Given the description of an element on the screen output the (x, y) to click on. 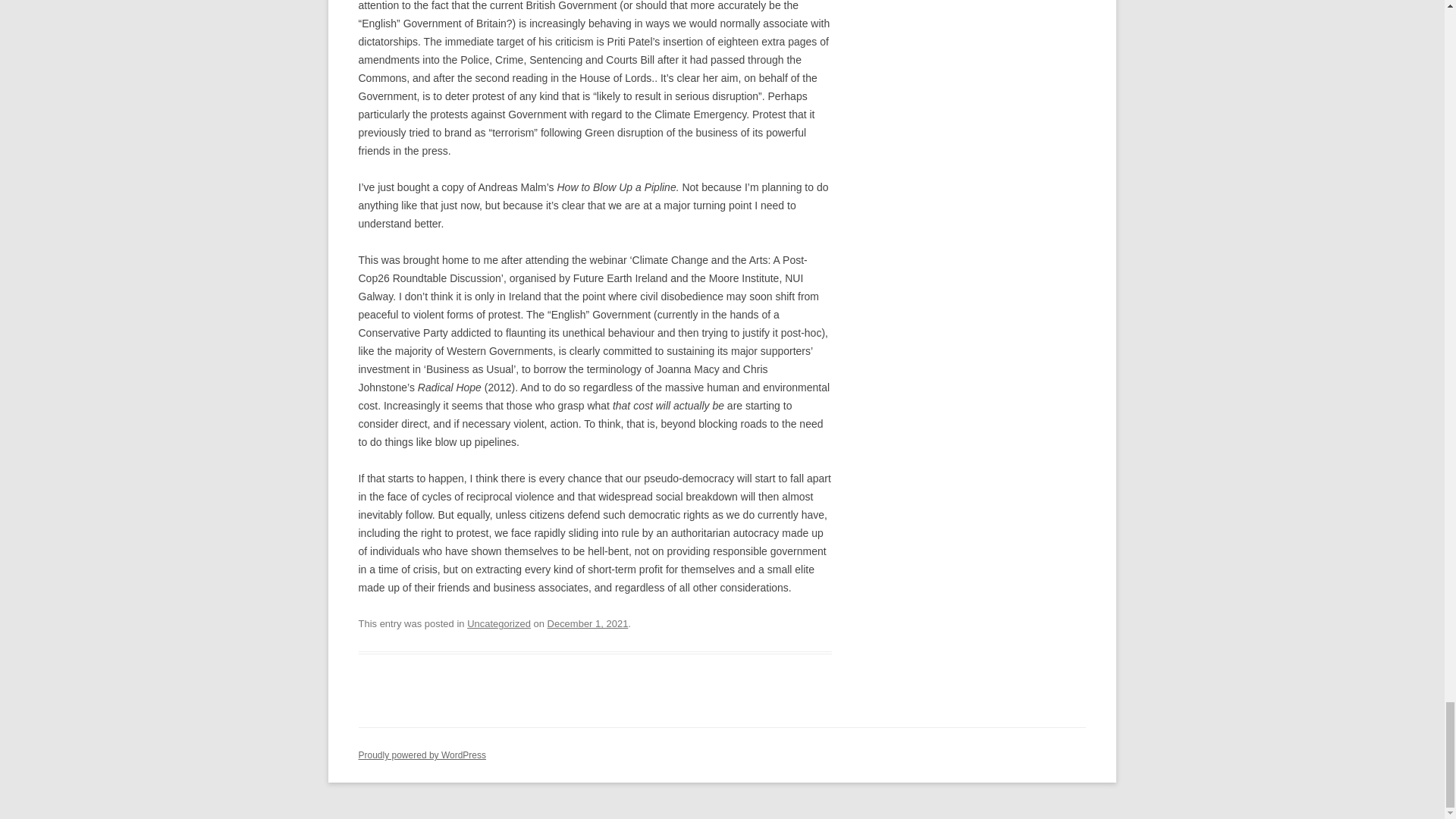
Semantic Personal Publishing Platform (422, 755)
2:37 pm (587, 623)
